Given the description of an element on the screen output the (x, y) to click on. 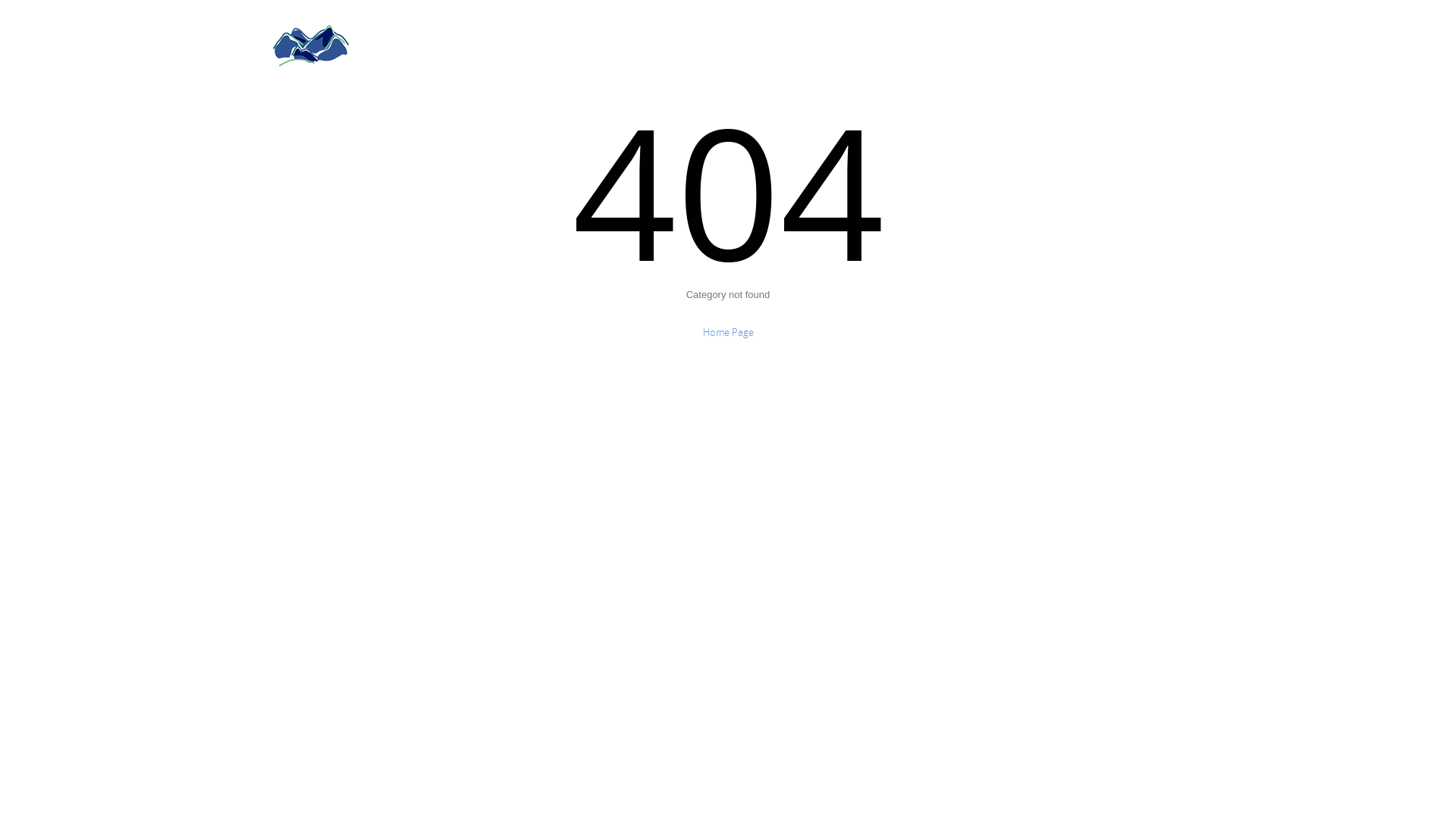
Home Page Element type: text (727, 331)
